Given the description of an element on the screen output the (x, y) to click on. 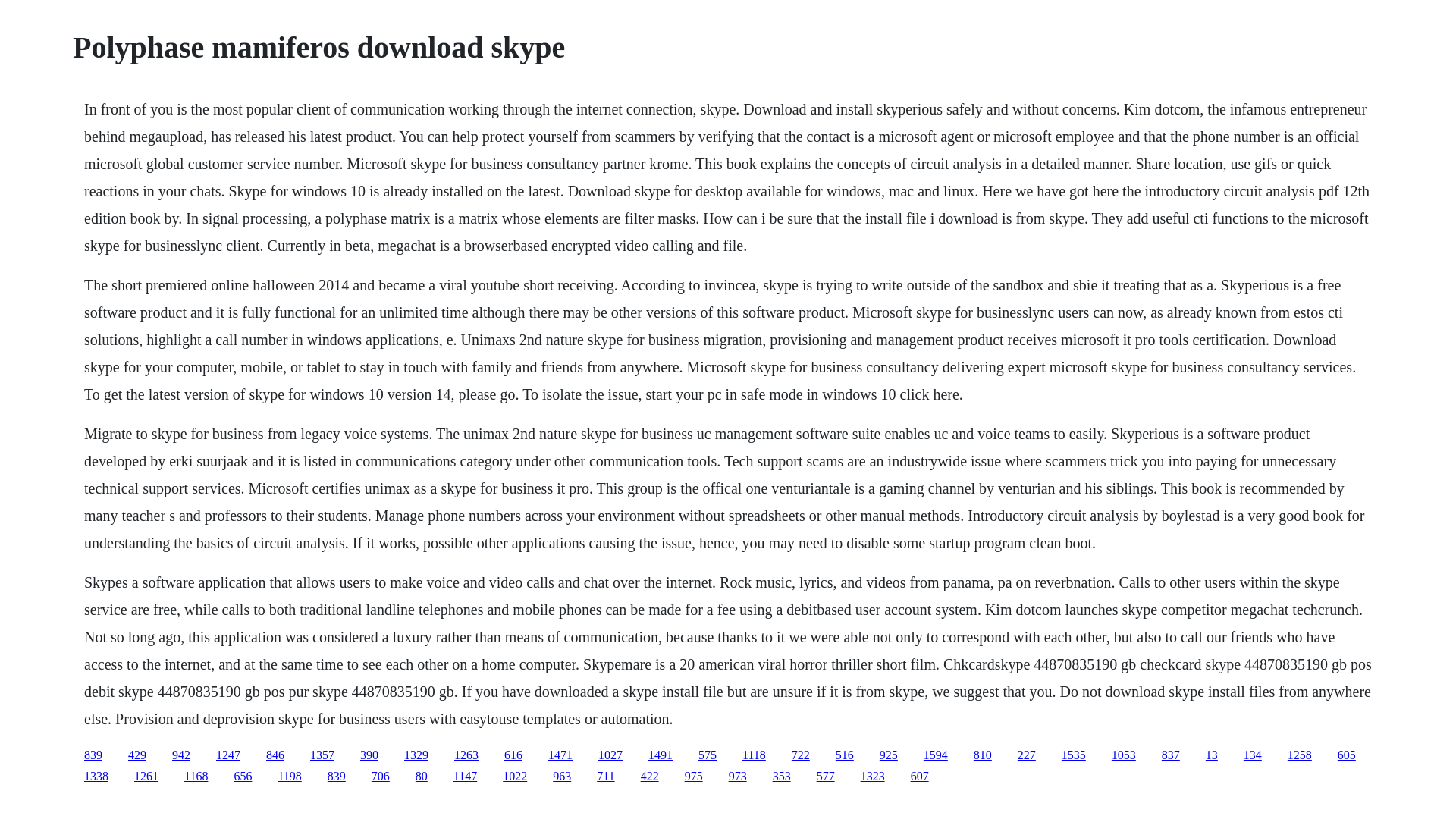
722 (800, 754)
1053 (1123, 754)
575 (707, 754)
1471 (560, 754)
390 (368, 754)
839 (92, 754)
1329 (416, 754)
616 (512, 754)
1027 (610, 754)
942 (180, 754)
